Given the description of an element on the screen output the (x, y) to click on. 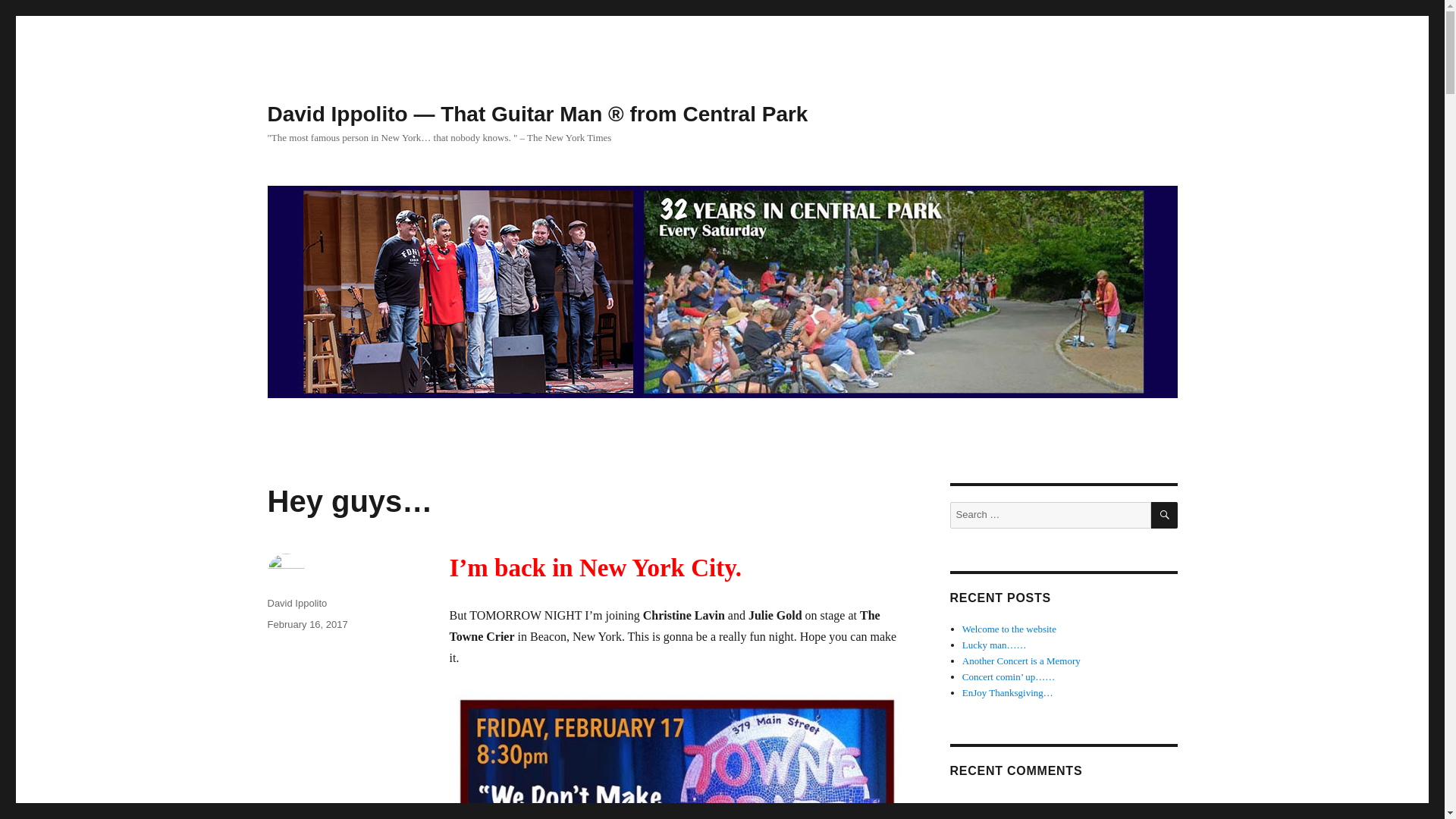
February 16, 2017 (306, 624)
Another Concert is a Memory (1021, 660)
SEARCH (1164, 515)
David Ippolito (296, 603)
Welcome to the website (1009, 628)
